Given the description of an element on the screen output the (x, y) to click on. 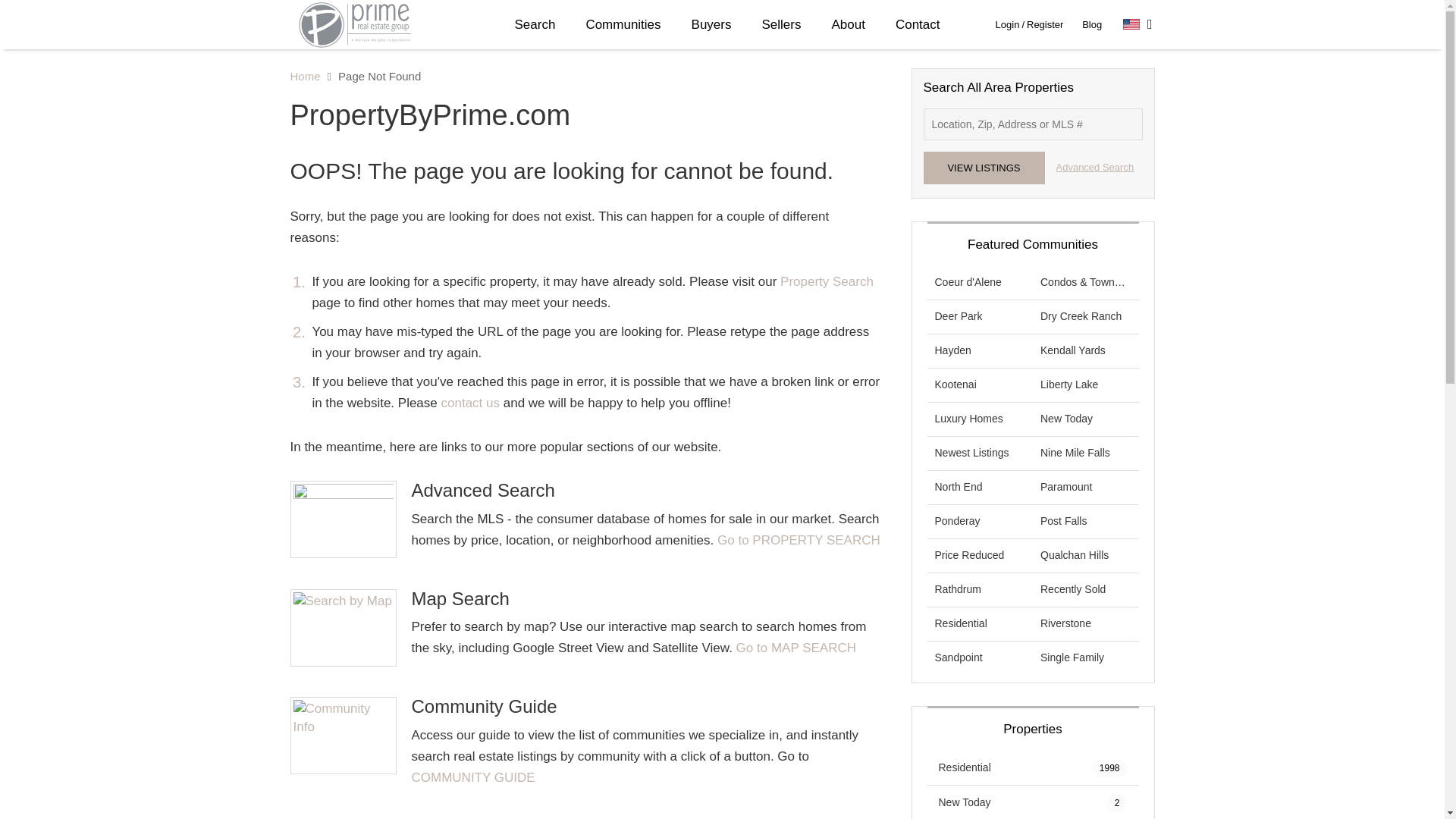
Search (534, 24)
Buyers (711, 24)
About (847, 24)
Contact Us (472, 402)
Contact (917, 24)
Select Language (1137, 24)
Sellers (780, 24)
Search the MLS (798, 540)
Blog (1091, 24)
Register (1044, 24)
Search the MLS (826, 281)
Communities (622, 24)
